Given the description of an element on the screen output the (x, y) to click on. 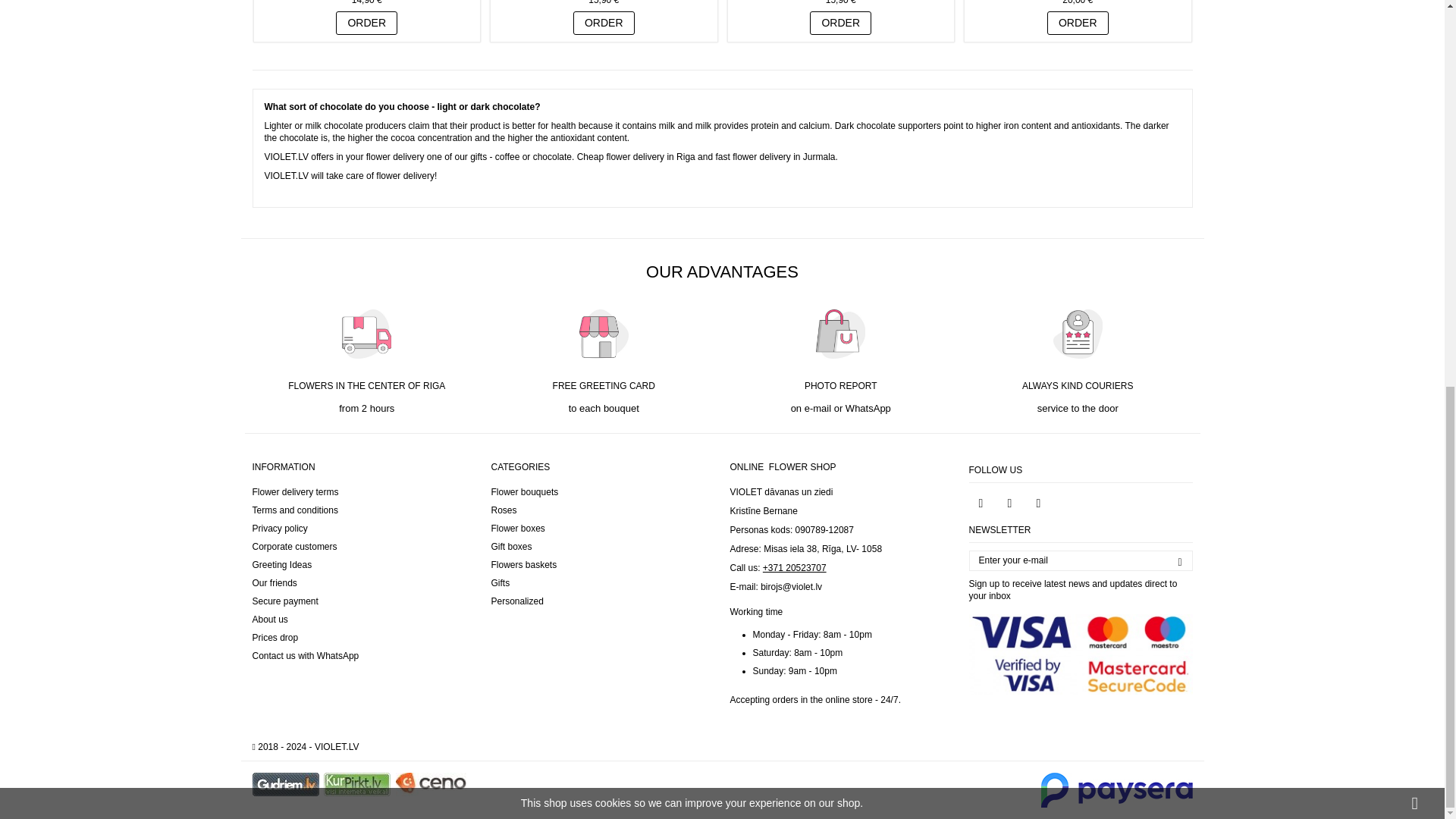
Enter your e-mail (1080, 560)
